Given the description of an element on the screen output the (x, y) to click on. 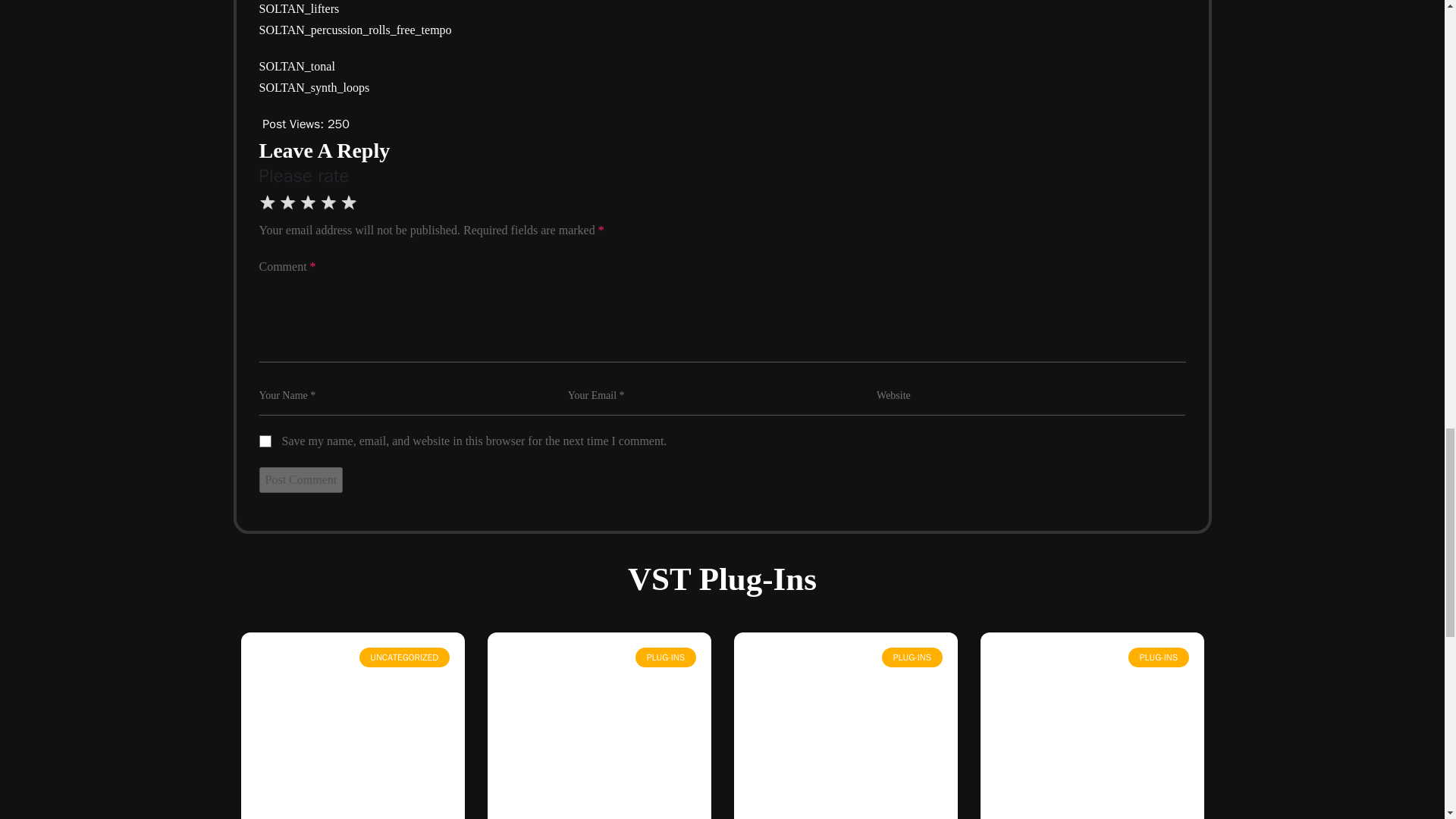
Post Comment (301, 479)
Post Comment (301, 479)
